Given the description of an element on the screen output the (x, y) to click on. 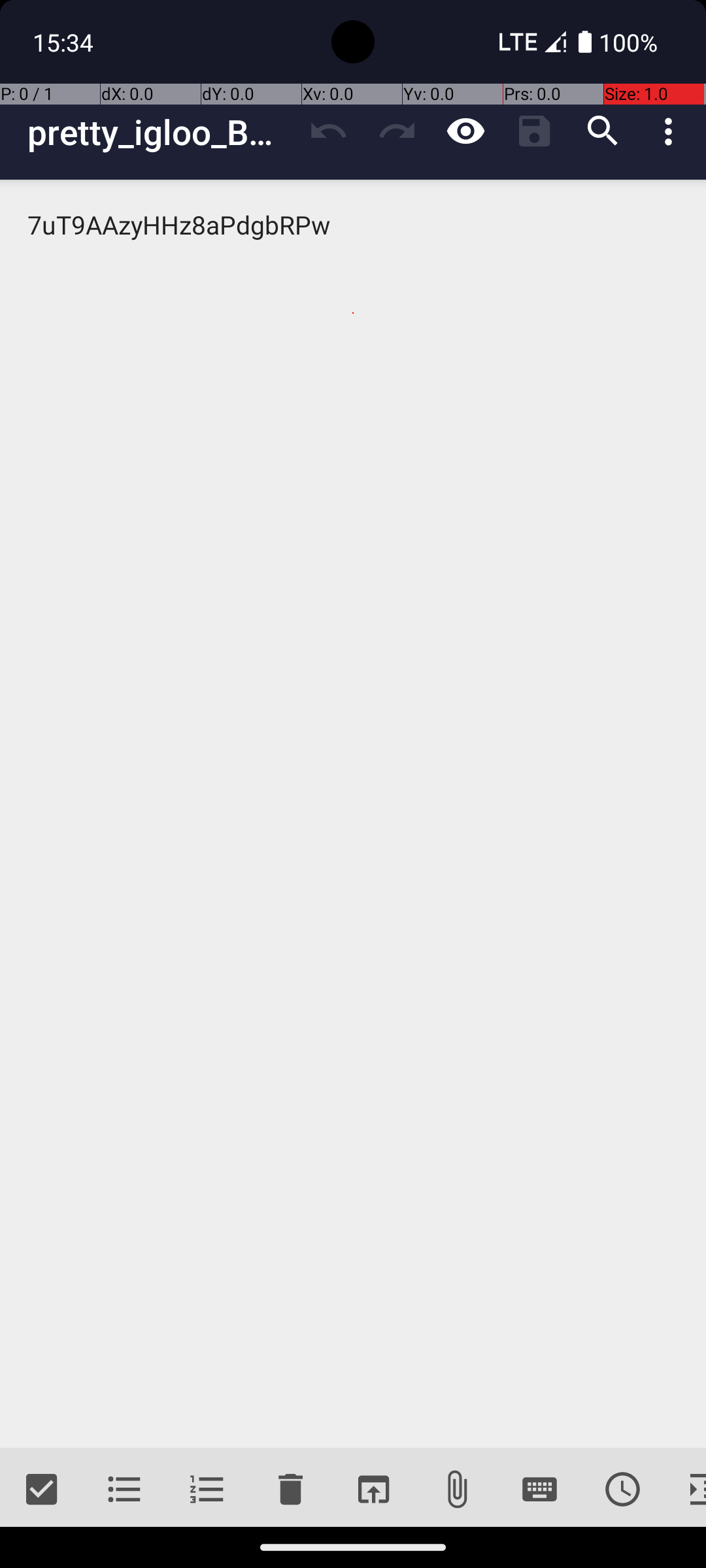
pretty_igloo_BP7P Element type: android.widget.TextView (160, 131)
7uT9AAzyHHz8aPdgbRPw
 Element type: android.widget.EditText (353, 813)
